Given the description of an element on the screen output the (x, y) to click on. 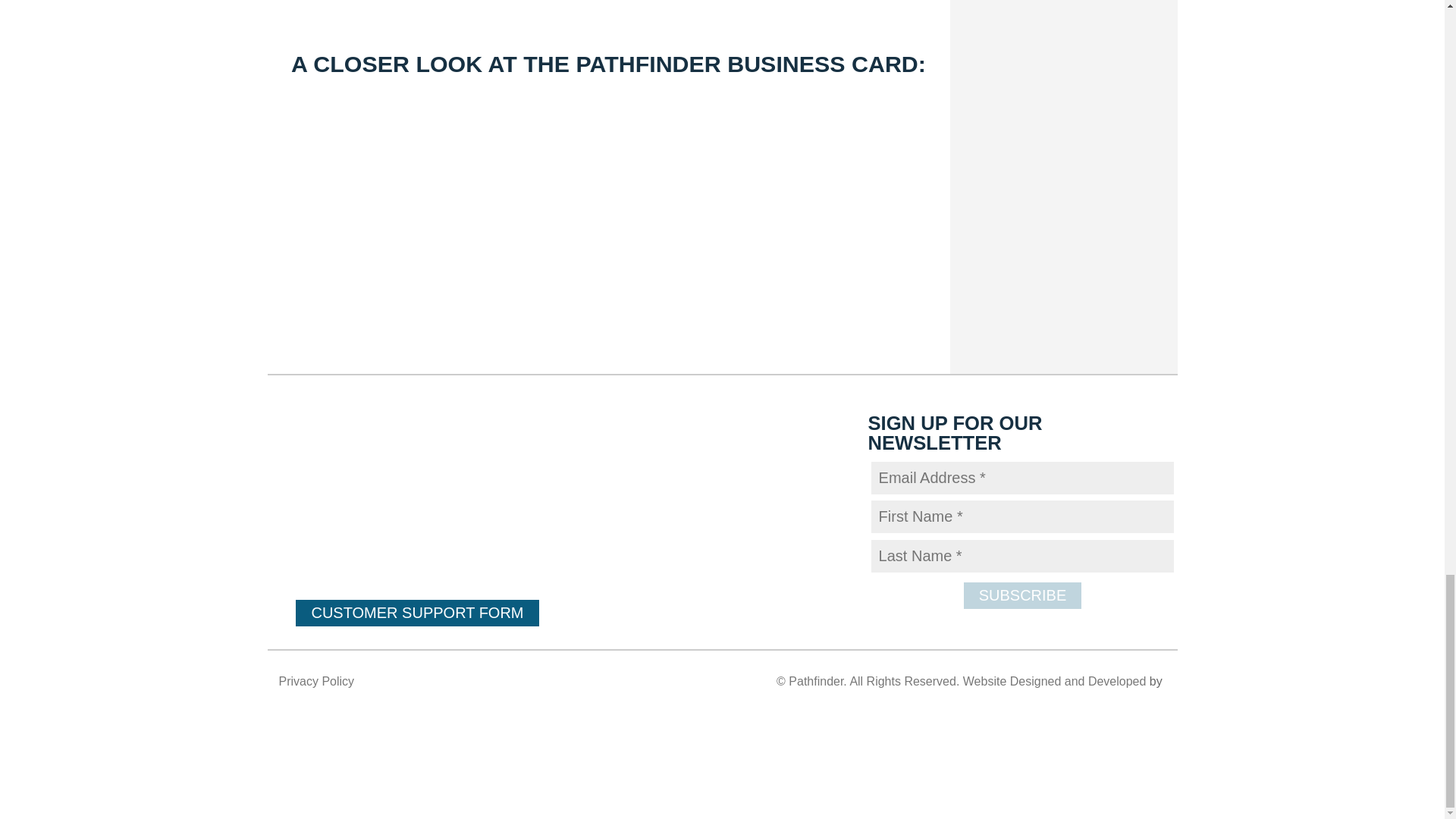
Subscribe (1022, 595)
